Given the description of an element on the screen output the (x, y) to click on. 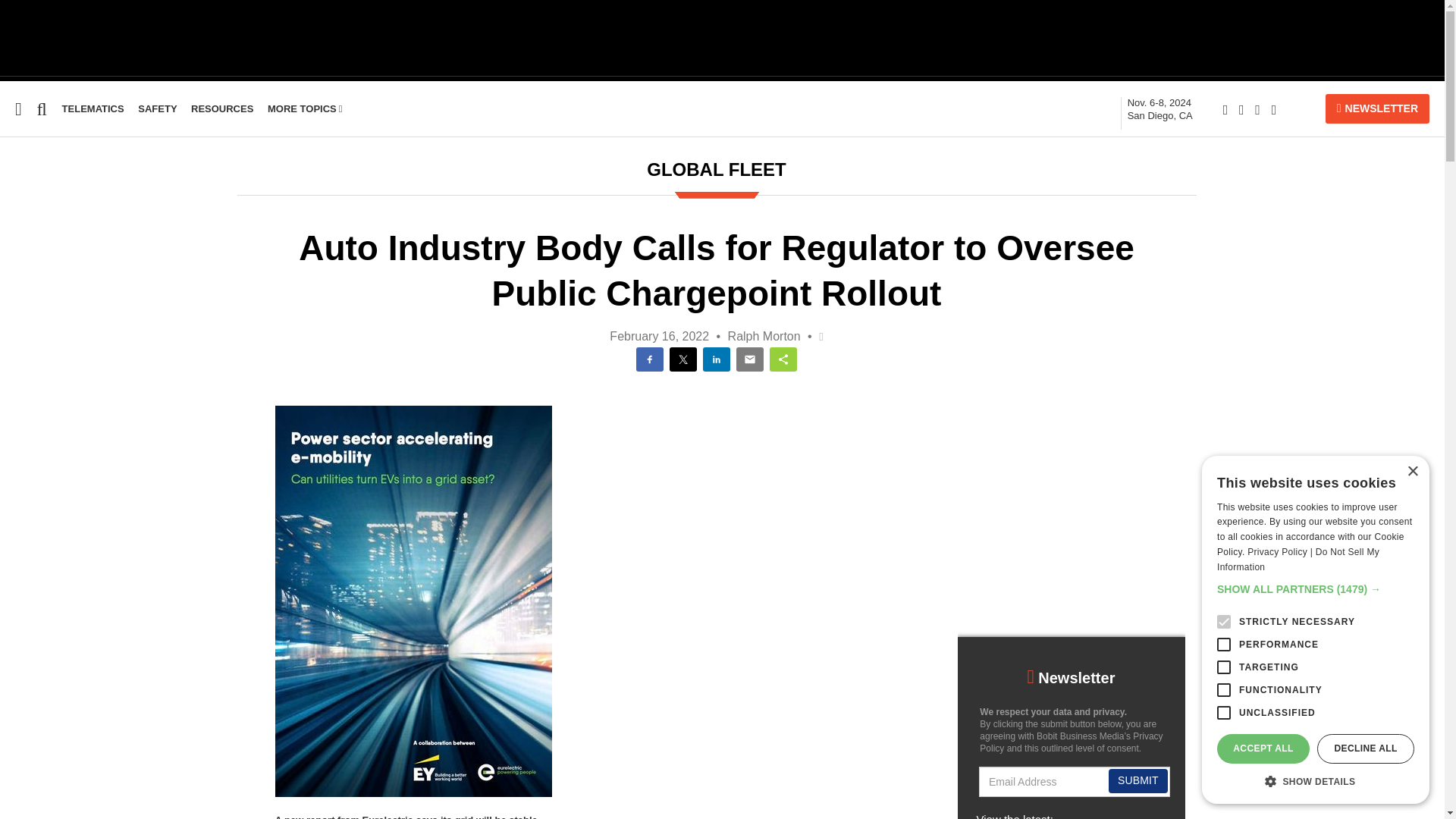
Fuel (11, 264)
Telematics (92, 108)
RESOURCES (221, 108)
3rd party ad content (721, 38)
SAFETY (157, 108)
Safety (157, 108)
Telematics (31, 323)
Home (1159, 109)
Global Fleet (16, 206)
Safety (34, 293)
Home (17, 236)
Nov. 6-8, 2024 (16, 206)
MORE TOPICS (1159, 109)
Safety (304, 108)
